Given the description of an element on the screen output the (x, y) to click on. 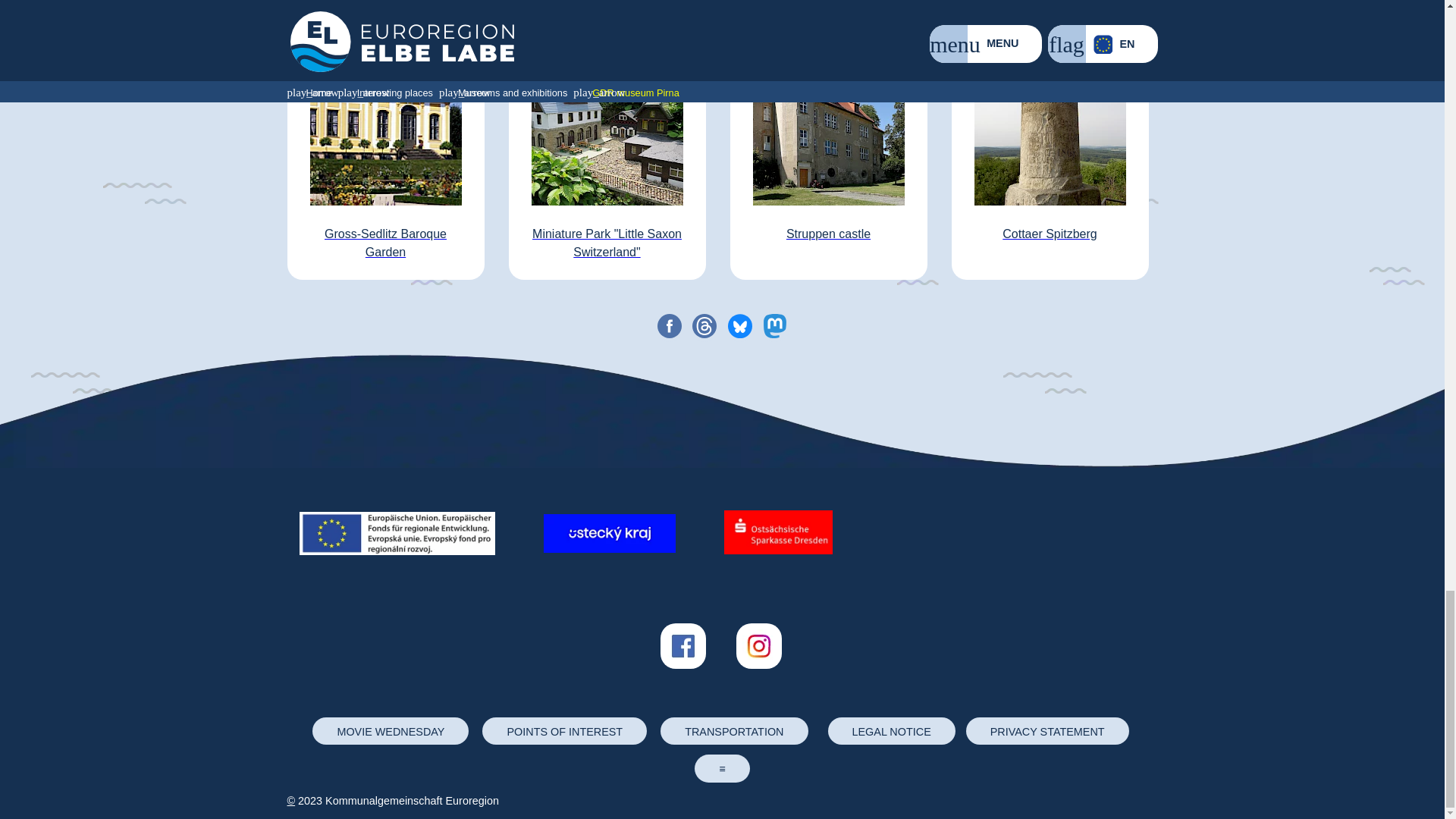
Teilen (704, 326)
Teilen (669, 326)
Facebook page (682, 671)
Teilen (774, 326)
Instagram page (758, 671)
Teilen (739, 326)
